Given the description of an element on the screen output the (x, y) to click on. 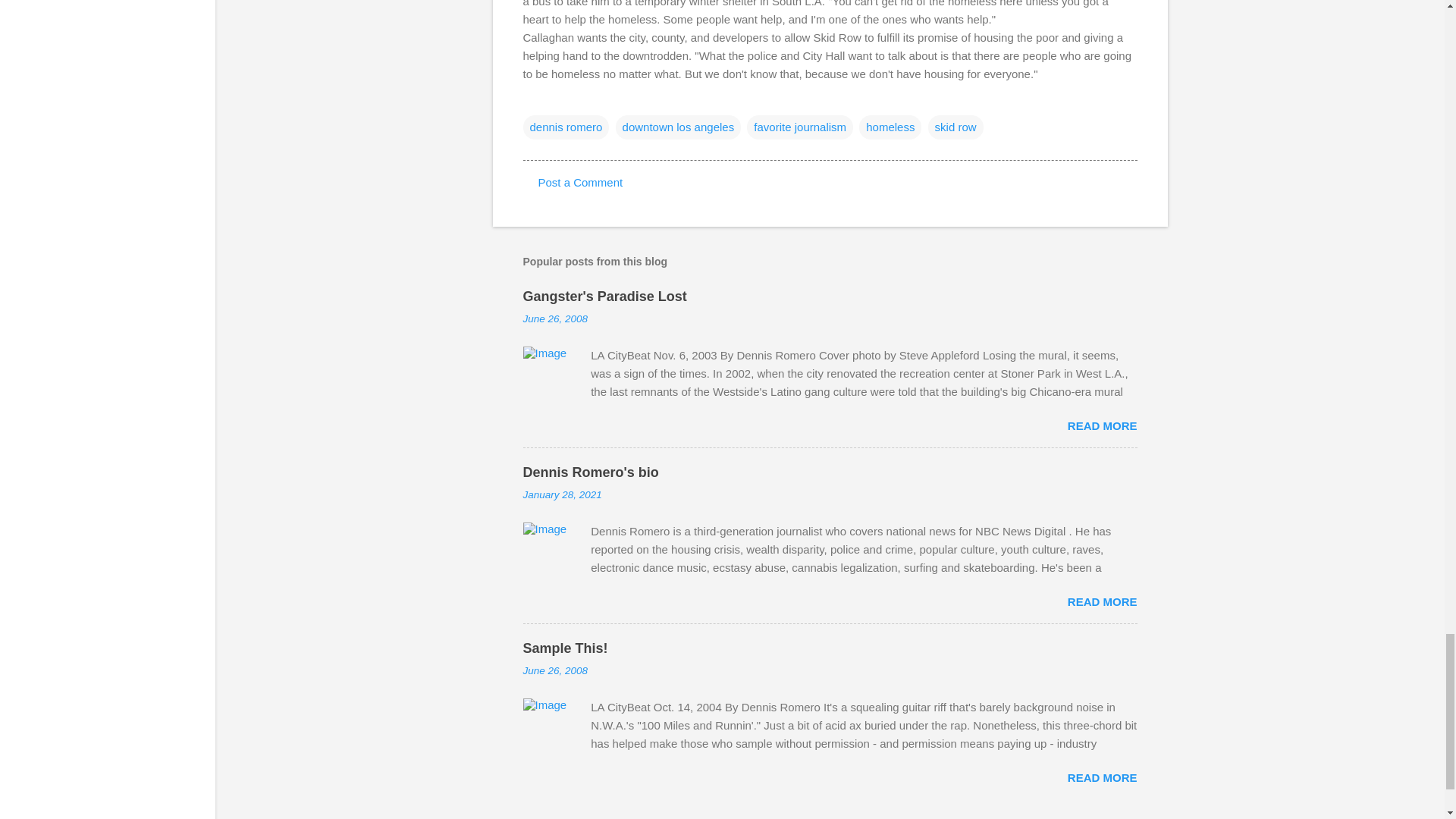
Gangster's Paradise Lost (604, 296)
homeless (890, 127)
downtown los angeles (678, 127)
Sample This! (565, 648)
READ MORE (1102, 777)
favorite journalism (799, 127)
Dennis Romero's bio (590, 472)
READ MORE (1102, 425)
READ MORE (1102, 601)
January 28, 2021 (562, 494)
